Given the description of an element on the screen output the (x, y) to click on. 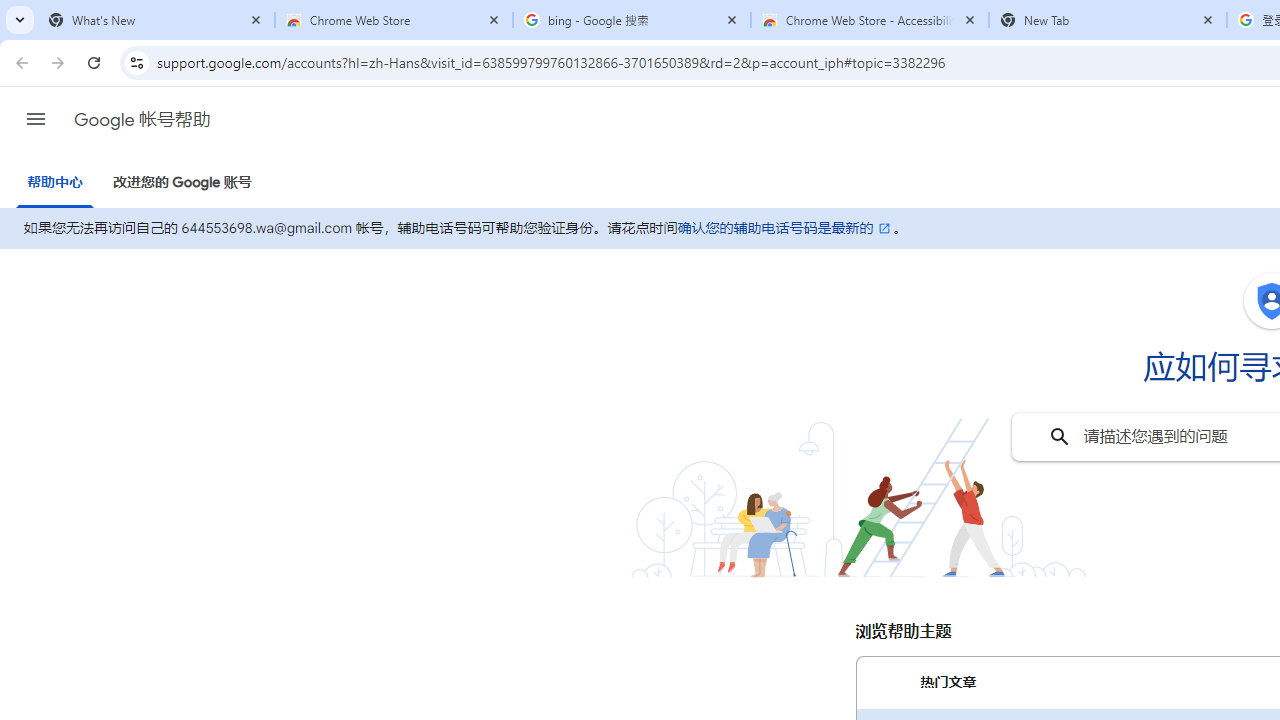
Forward (57, 62)
Chrome Web Store (394, 20)
Back (19, 62)
